Given the description of an element on the screen output the (x, y) to click on. 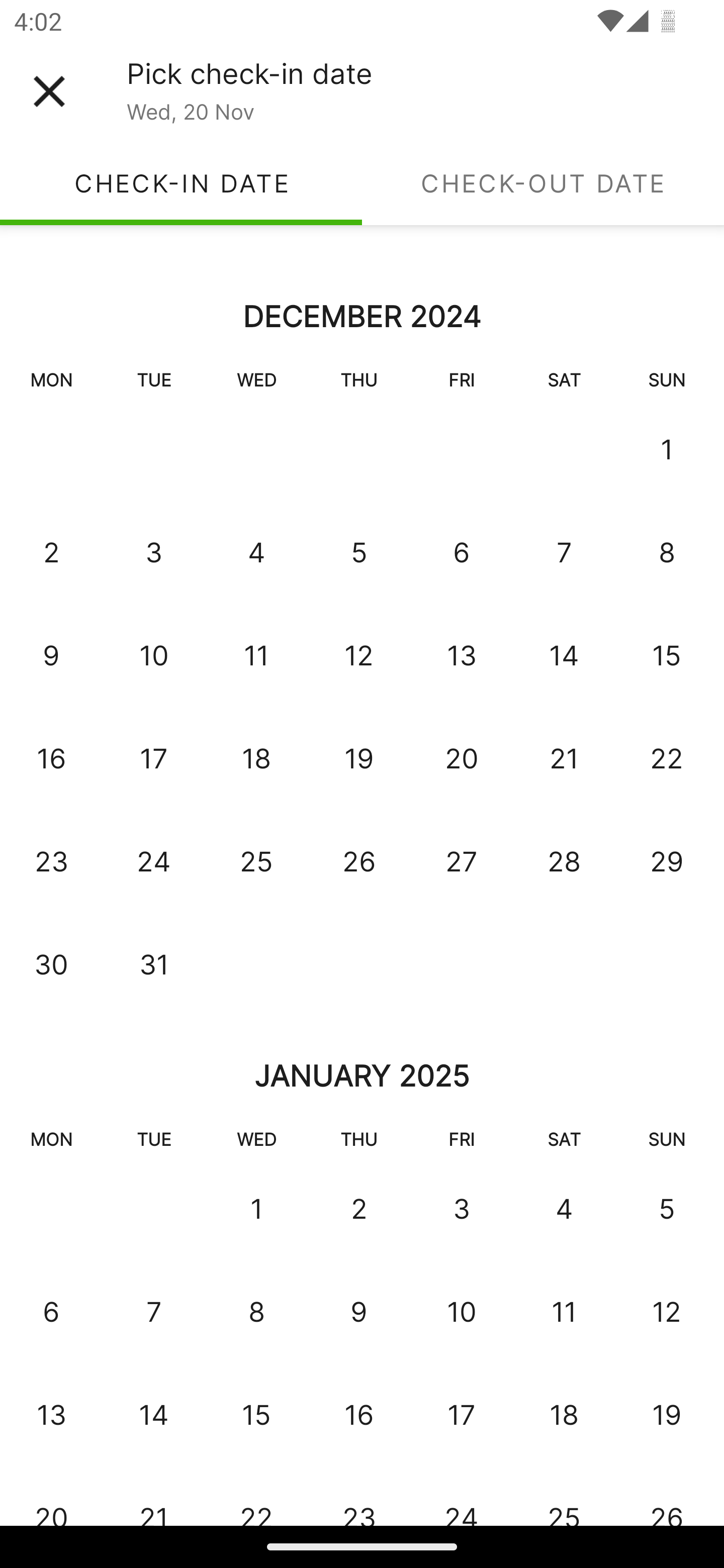
Check-out Date CHECK-OUT DATE (543, 183)
